Given the description of an element on the screen output the (x, y) to click on. 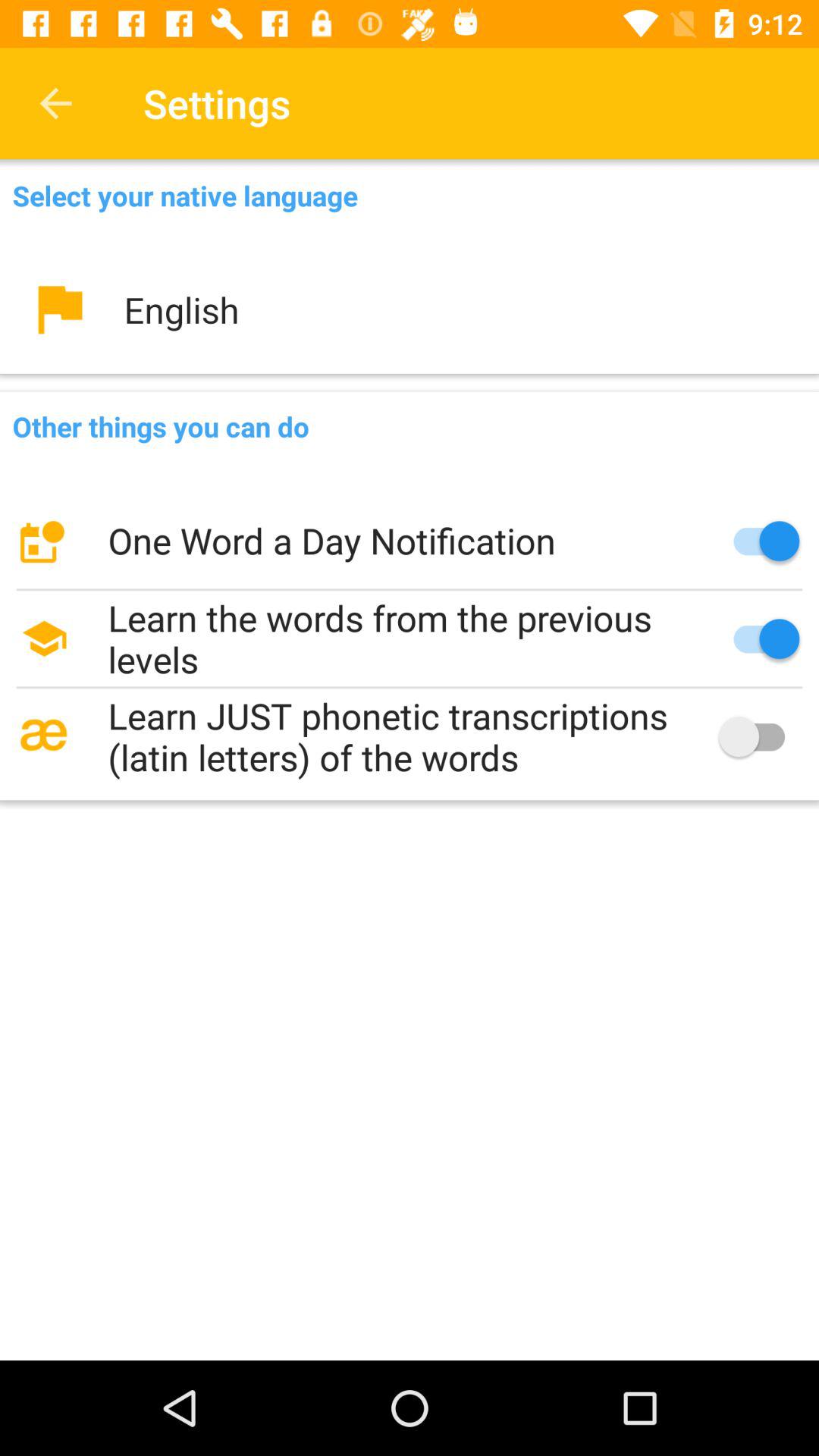
press item next to the settings item (55, 103)
